Given the description of an element on the screen output the (x, y) to click on. 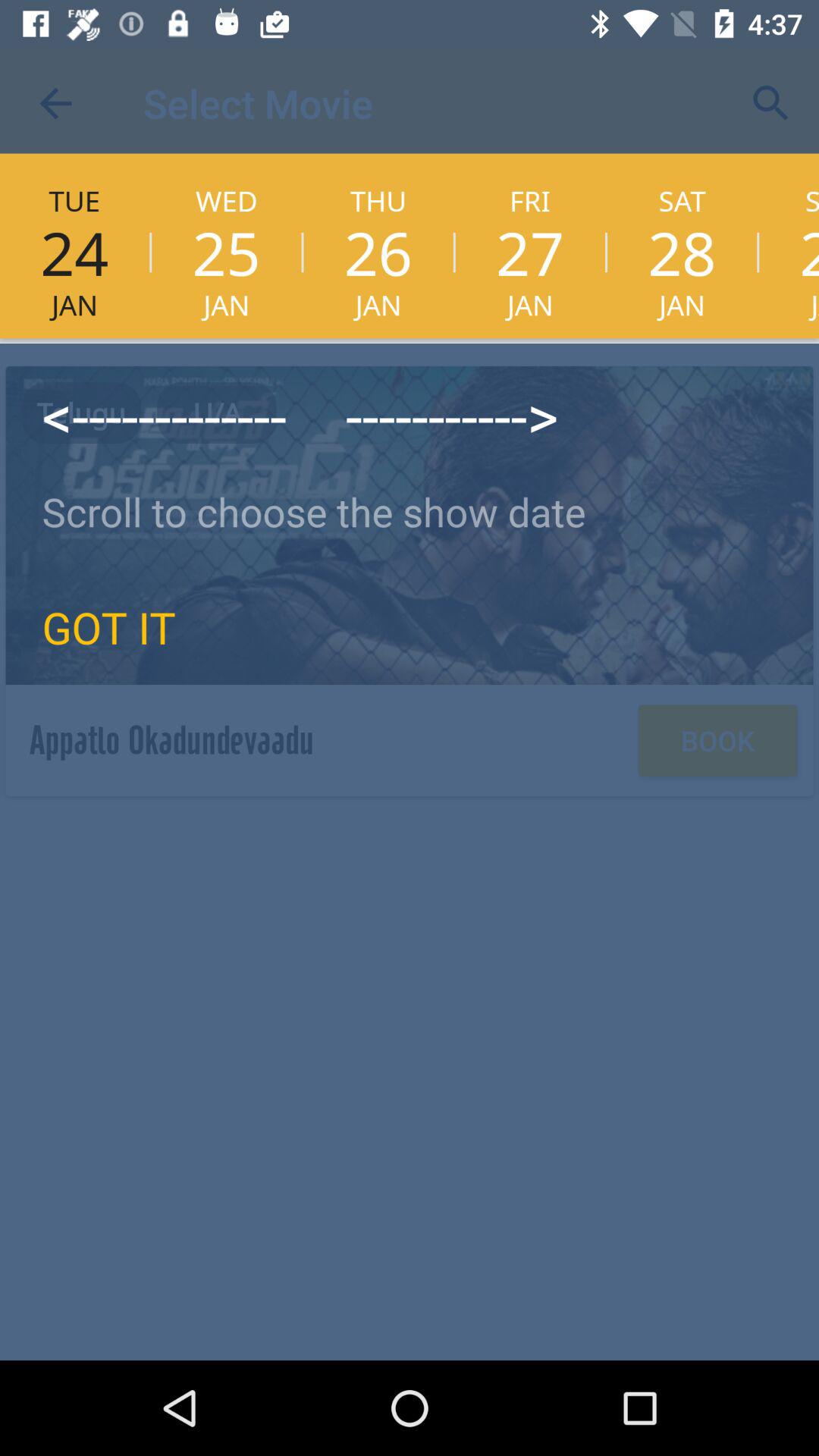
choose the app next to select movie icon (55, 103)
